Given the description of an element on the screen output the (x, y) to click on. 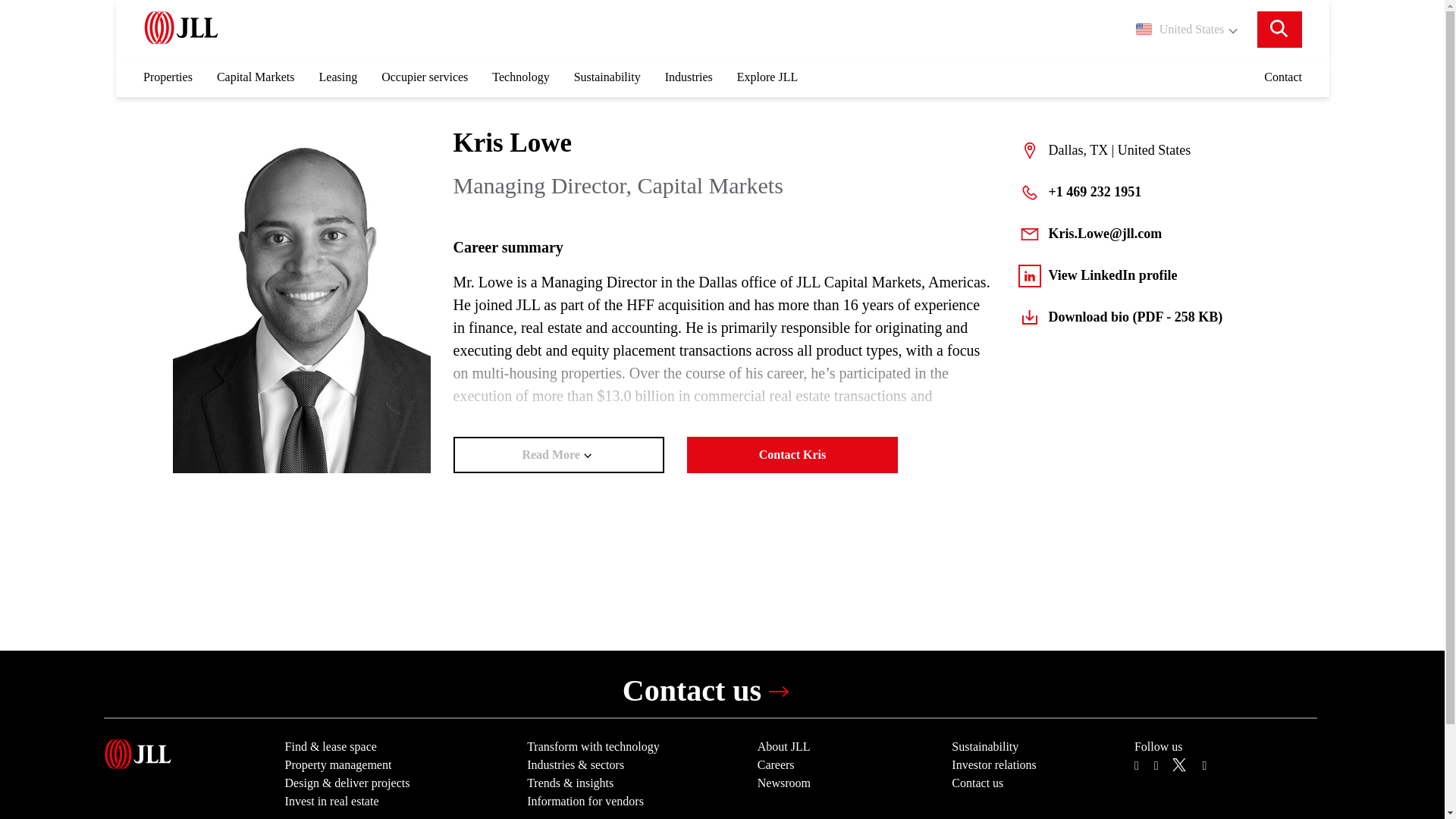
United States (1186, 29)
